Given the description of an element on the screen output the (x, y) to click on. 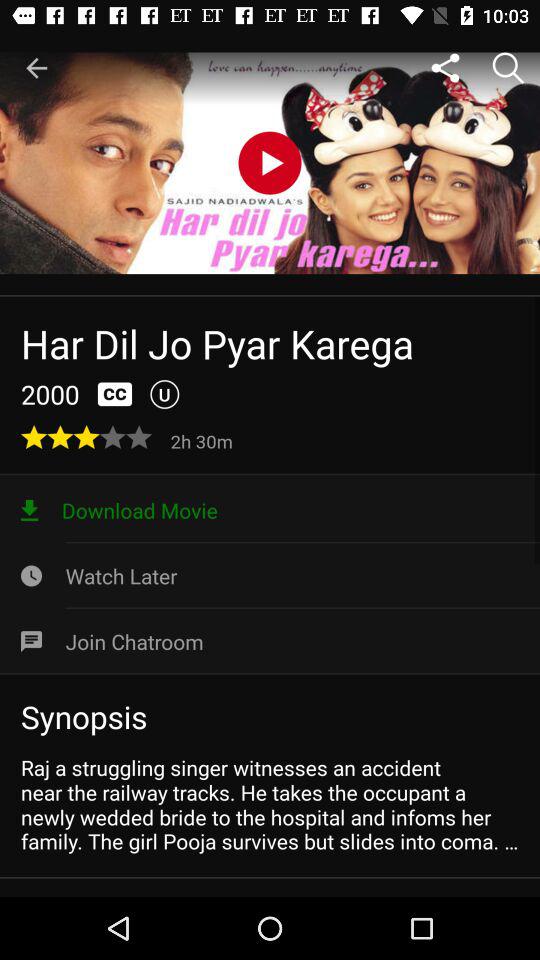
choose the icon above watch later icon (270, 510)
